Given the description of an element on the screen output the (x, y) to click on. 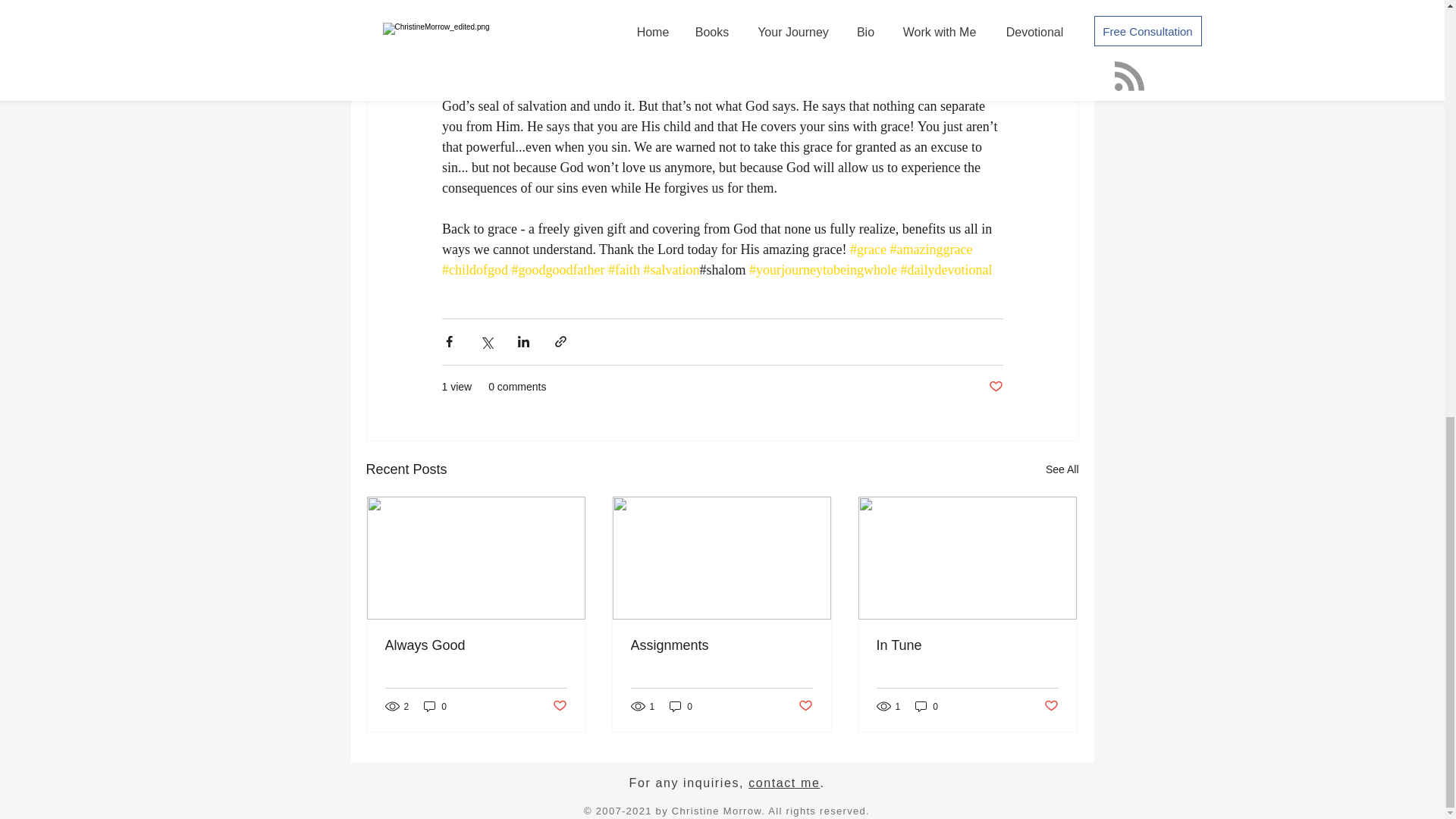
Always Good (476, 645)
Post not marked as liked (1050, 706)
In Tune (967, 645)
Post not marked as liked (804, 706)
Post not marked as liked (995, 386)
See All (1061, 469)
contact me (783, 782)
0 (681, 706)
0 (926, 706)
Post not marked as liked (558, 706)
